Given the description of an element on the screen output the (x, y) to click on. 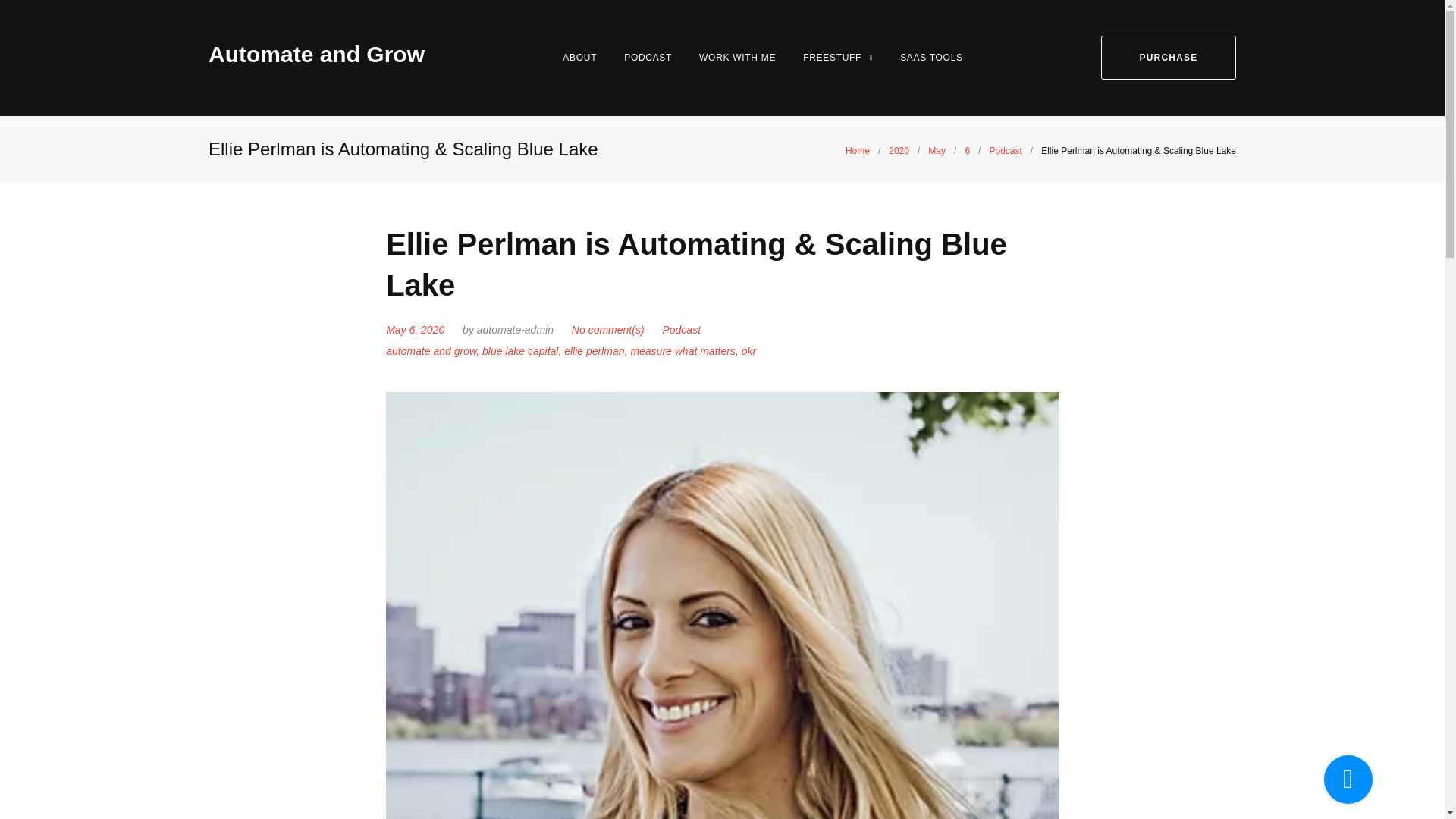
blue lake capital (519, 350)
Podcast (681, 329)
ellie perlman (594, 350)
May (936, 150)
measure what matters (682, 350)
PURCHASE (1168, 57)
2020 (898, 150)
May 6, 2020 (414, 329)
Home (857, 150)
PODCAST (647, 57)
May (936, 150)
automate and grow (430, 350)
Podcast (1005, 150)
FREESTUFF (837, 57)
Home (857, 150)
